Given the description of an element on the screen output the (x, y) to click on. 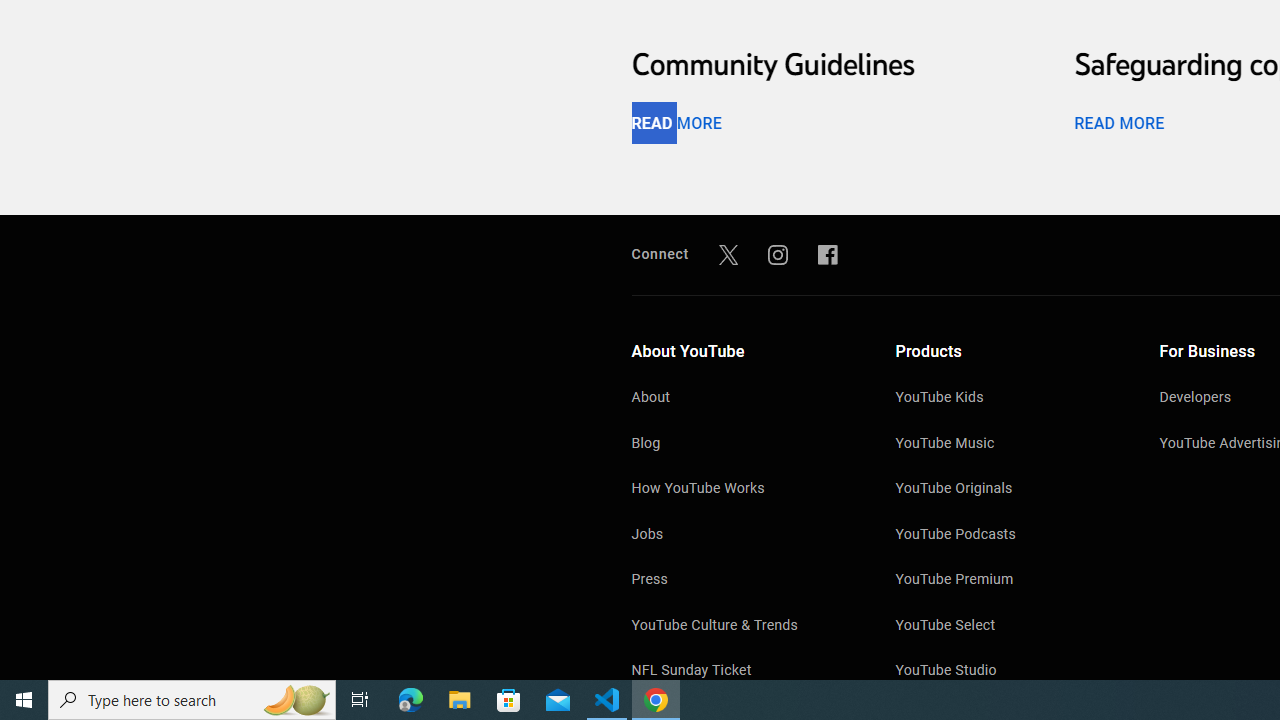
About (743, 399)
YouTube Kids (1007, 399)
Twitter (728, 254)
